Given the description of an element on the screen output the (x, y) to click on. 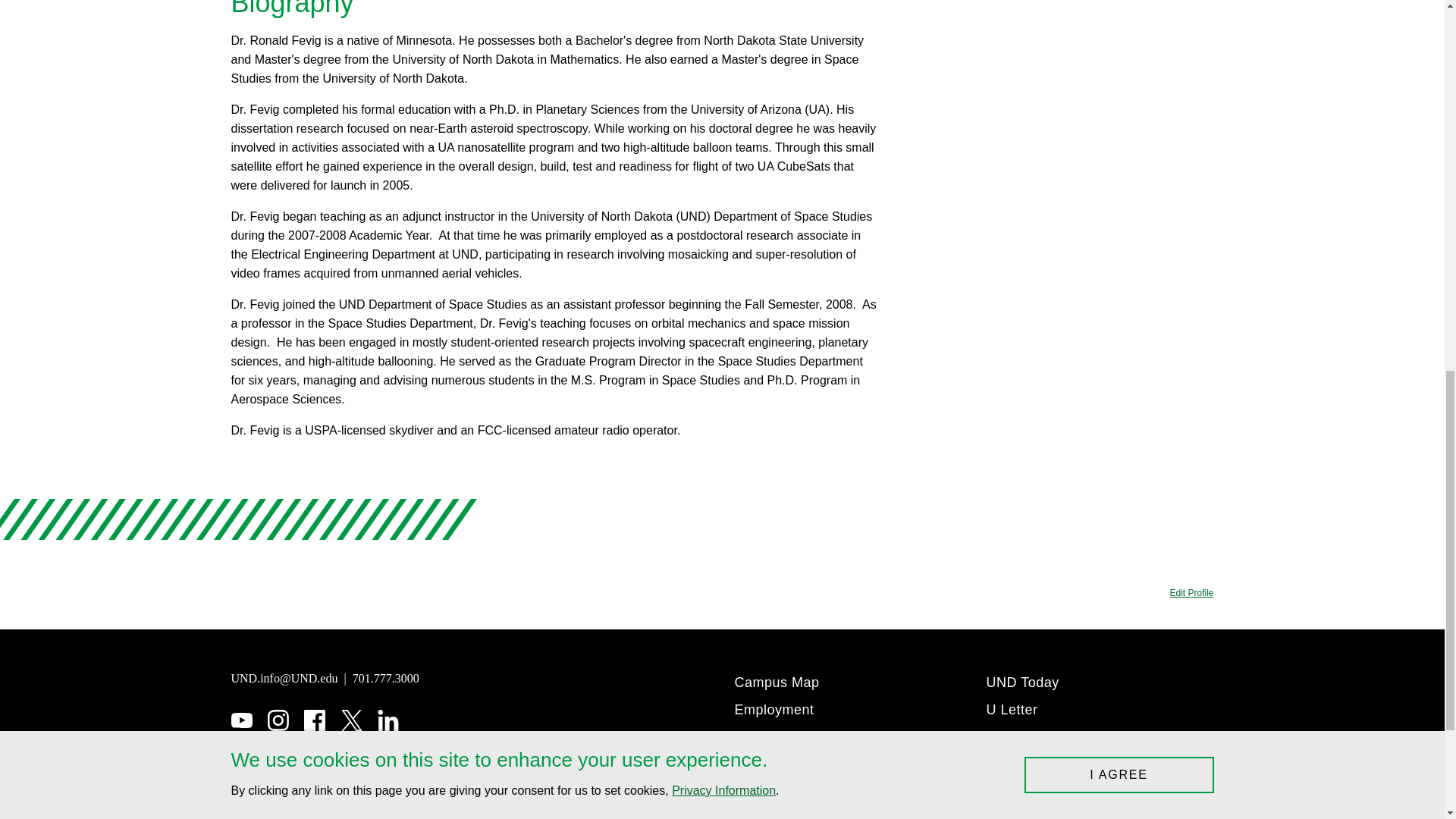
Facebook (314, 720)
LinkedIn (387, 720)
Instagram (277, 720)
Twitter (351, 720)
YouTube (240, 720)
